Given the description of an element on the screen output the (x, y) to click on. 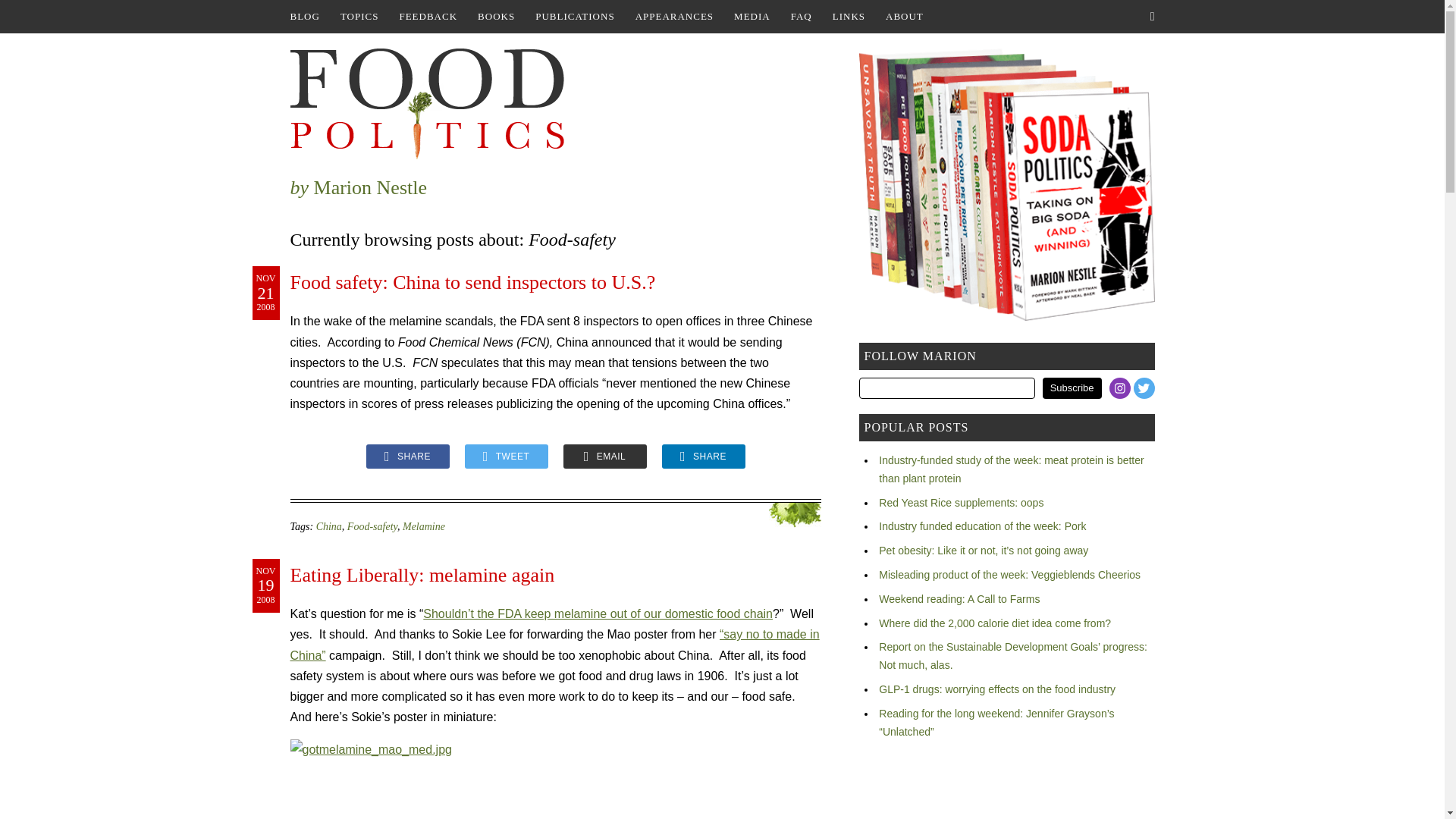
EMAIL (604, 456)
Food safety: China to send inspectors to U.S.? (472, 282)
Twitter (1143, 388)
Eating Liberally: melamine again (421, 575)
BOOKS (496, 16)
APPEARANCES (673, 16)
TOPICS (360, 16)
Instagram (1120, 388)
FAQ (801, 16)
SHARE (702, 456)
Subscribe (1072, 387)
TWEET (505, 456)
MEDIA (751, 16)
Melamine (424, 526)
FEEDBACK (427, 16)
